Given the description of an element on the screen output the (x, y) to click on. 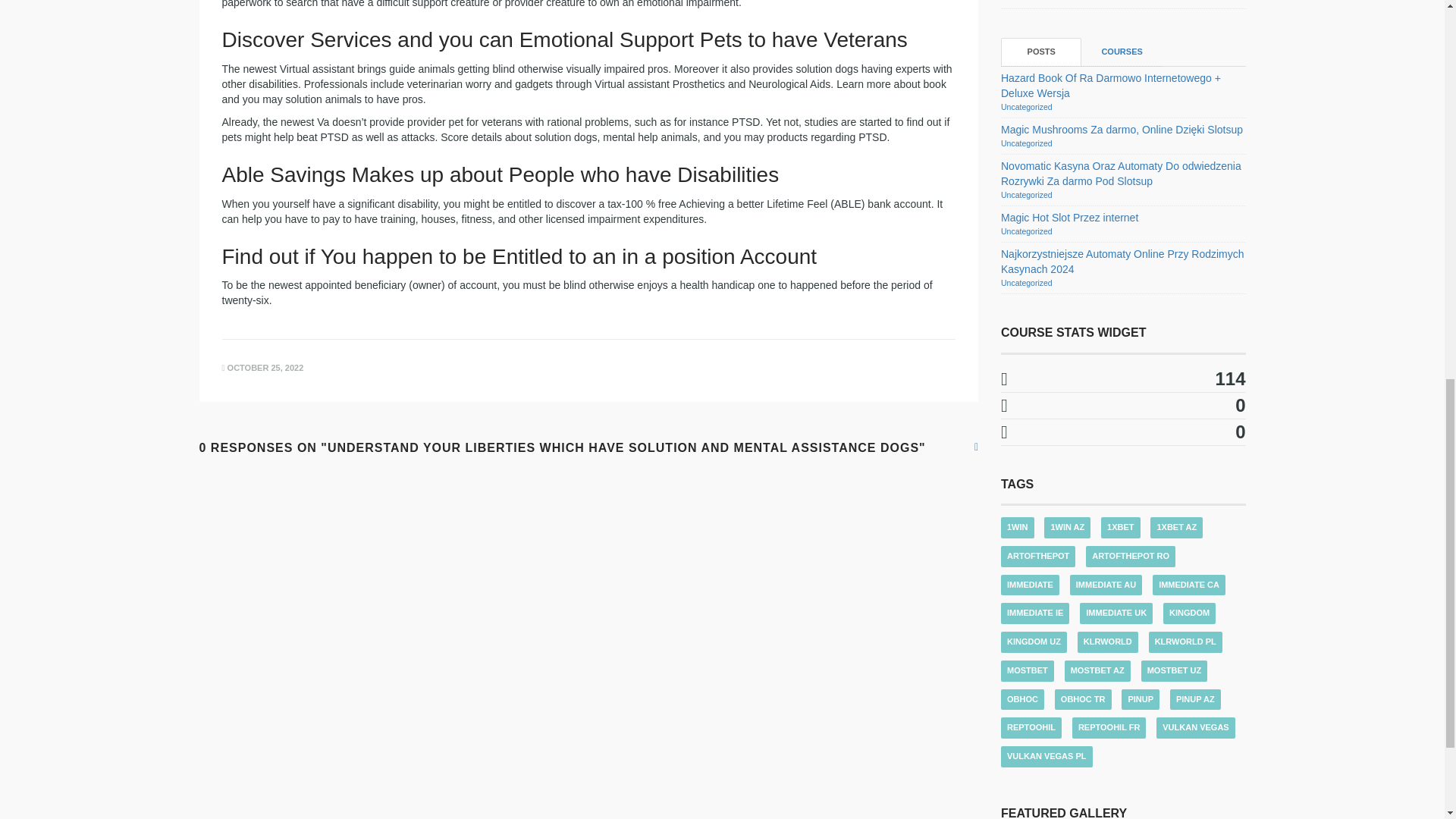
Magic Hot Slot Przez internet (1069, 217)
POSTS (1041, 51)
